Given the description of an element on the screen output the (x, y) to click on. 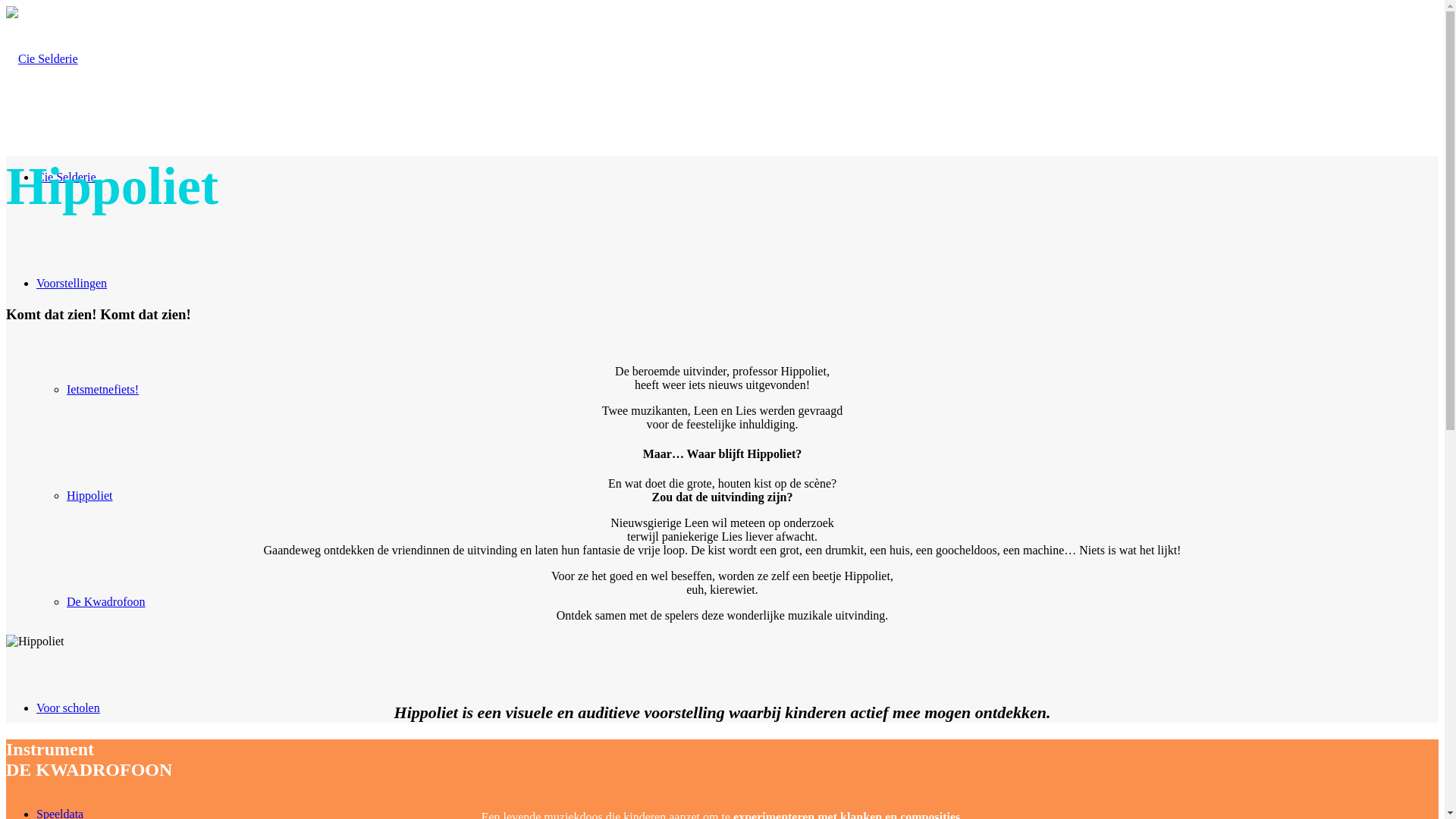
Voorstellingen Element type: text (71, 282)
Ietsmetnefiets! Element type: text (102, 388)
Voor scholen Element type: text (68, 707)
Cie Selderie Element type: text (66, 176)
De Kwadrofoon Element type: text (105, 601)
Hippoliet Element type: text (89, 495)
Hippoliet Element type: hover (34, 641)
